Given the description of an element on the screen output the (x, y) to click on. 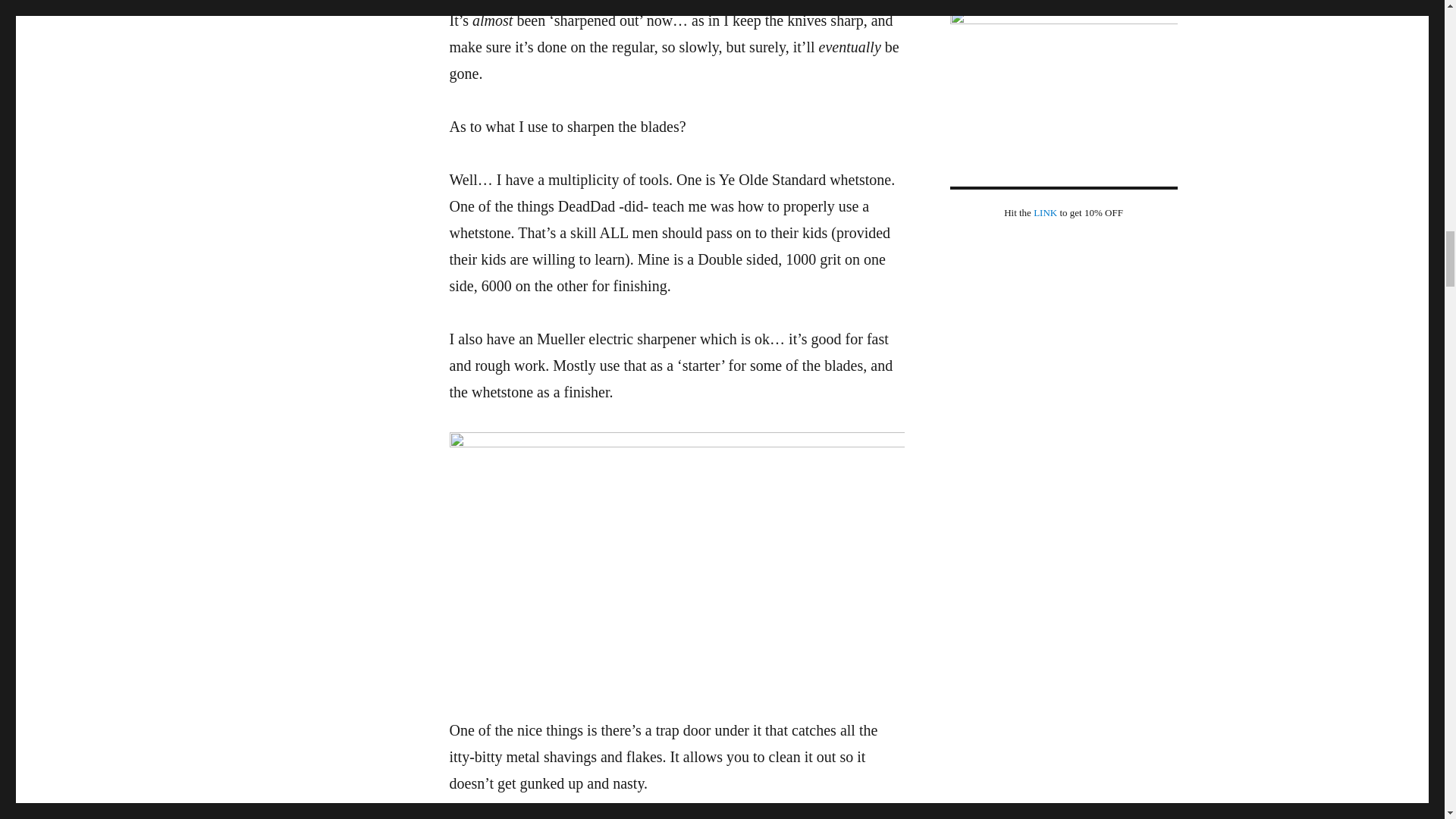
HERE (542, 809)
